Given the description of an element on the screen output the (x, y) to click on. 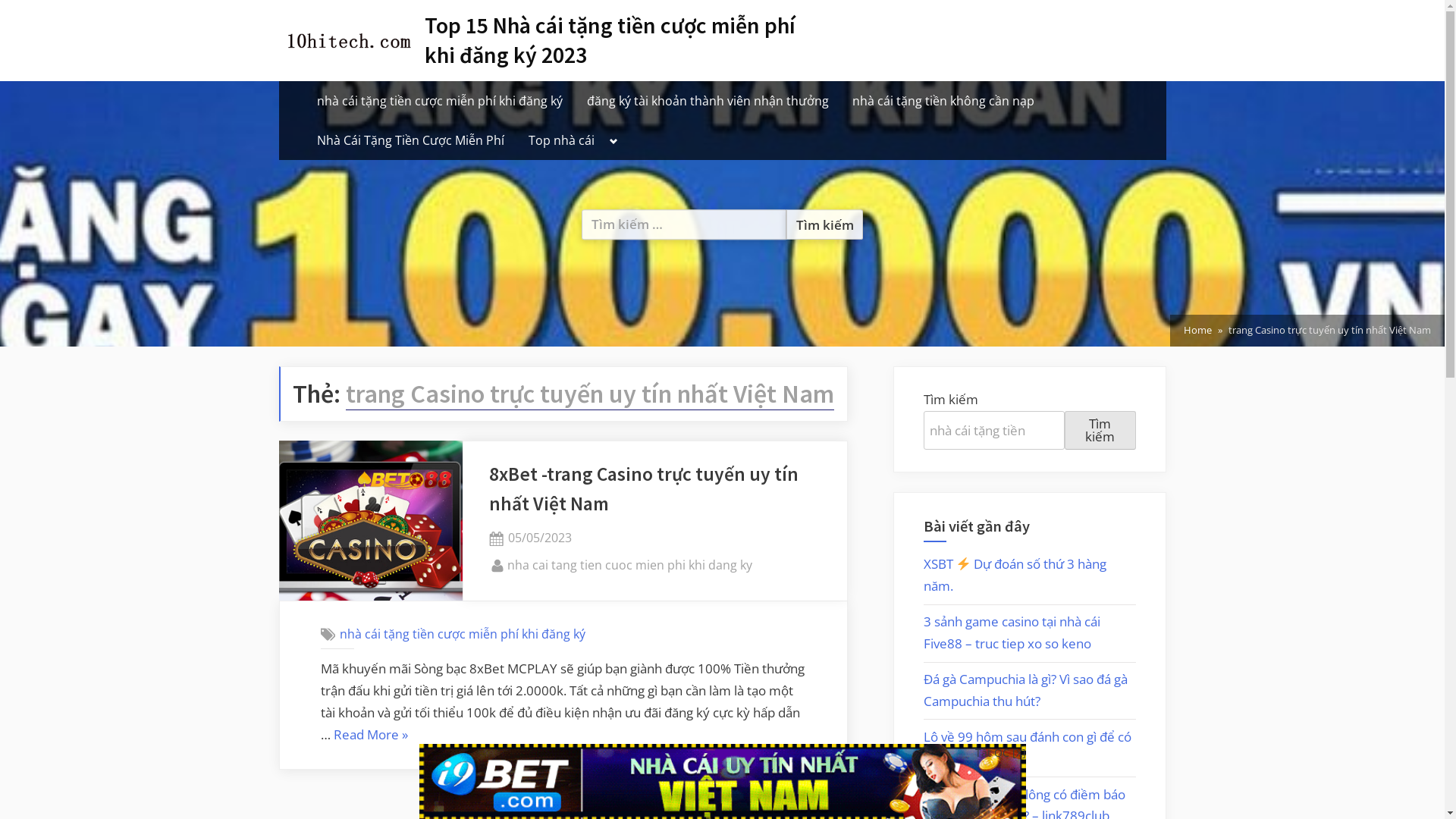
Posted on
05/05/2023 Element type: text (539, 538)
By
nha cai tang tien cuoc mien phi khi dang ky Element type: text (629, 565)
Home Element type: text (1197, 330)
Toggle sub-menu Element type: text (613, 141)
